Given the description of an element on the screen output the (x, y) to click on. 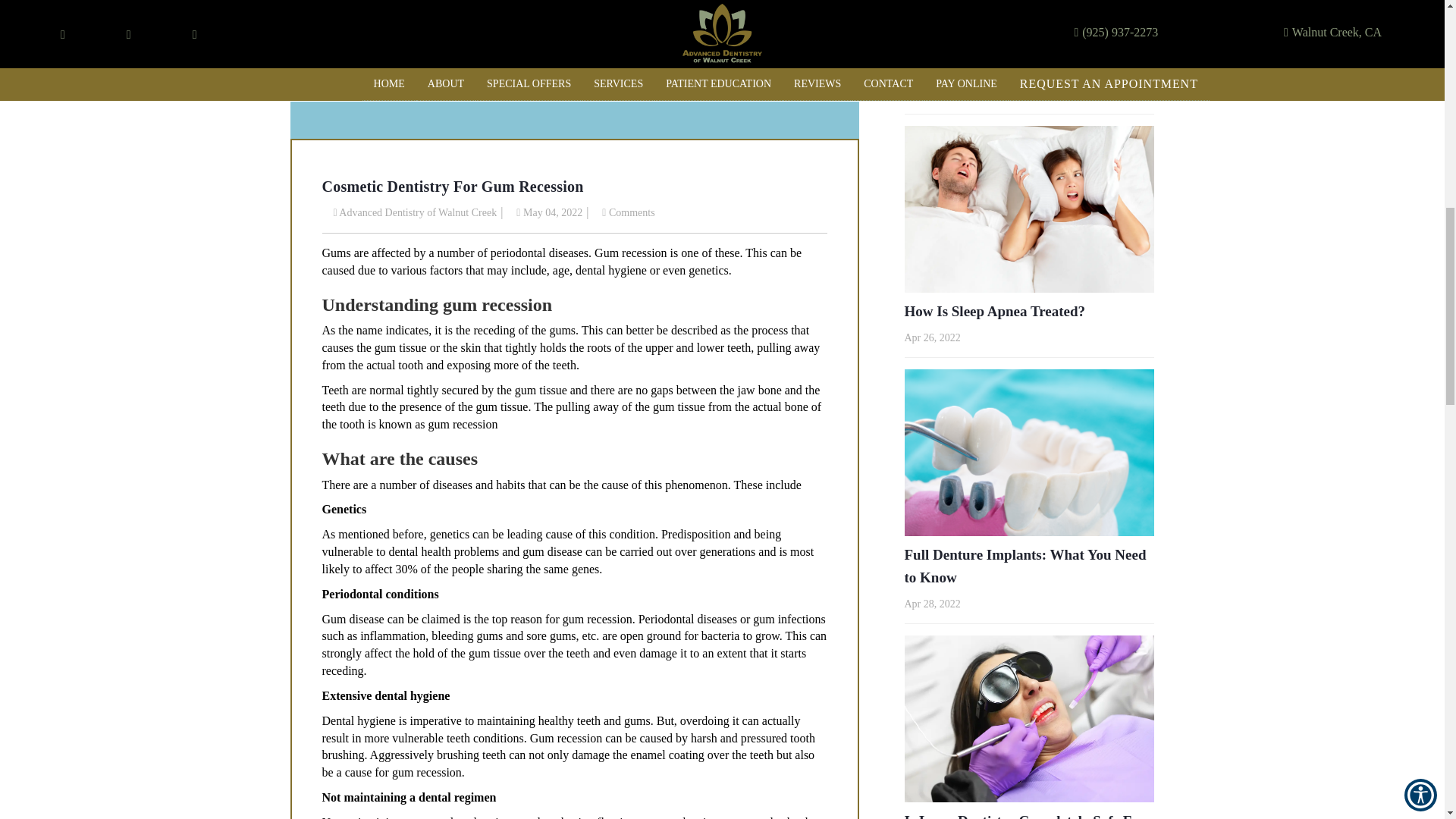
Cosmetic Dentistry for Gum Recession (574, 69)
